Given the description of an element on the screen output the (x, y) to click on. 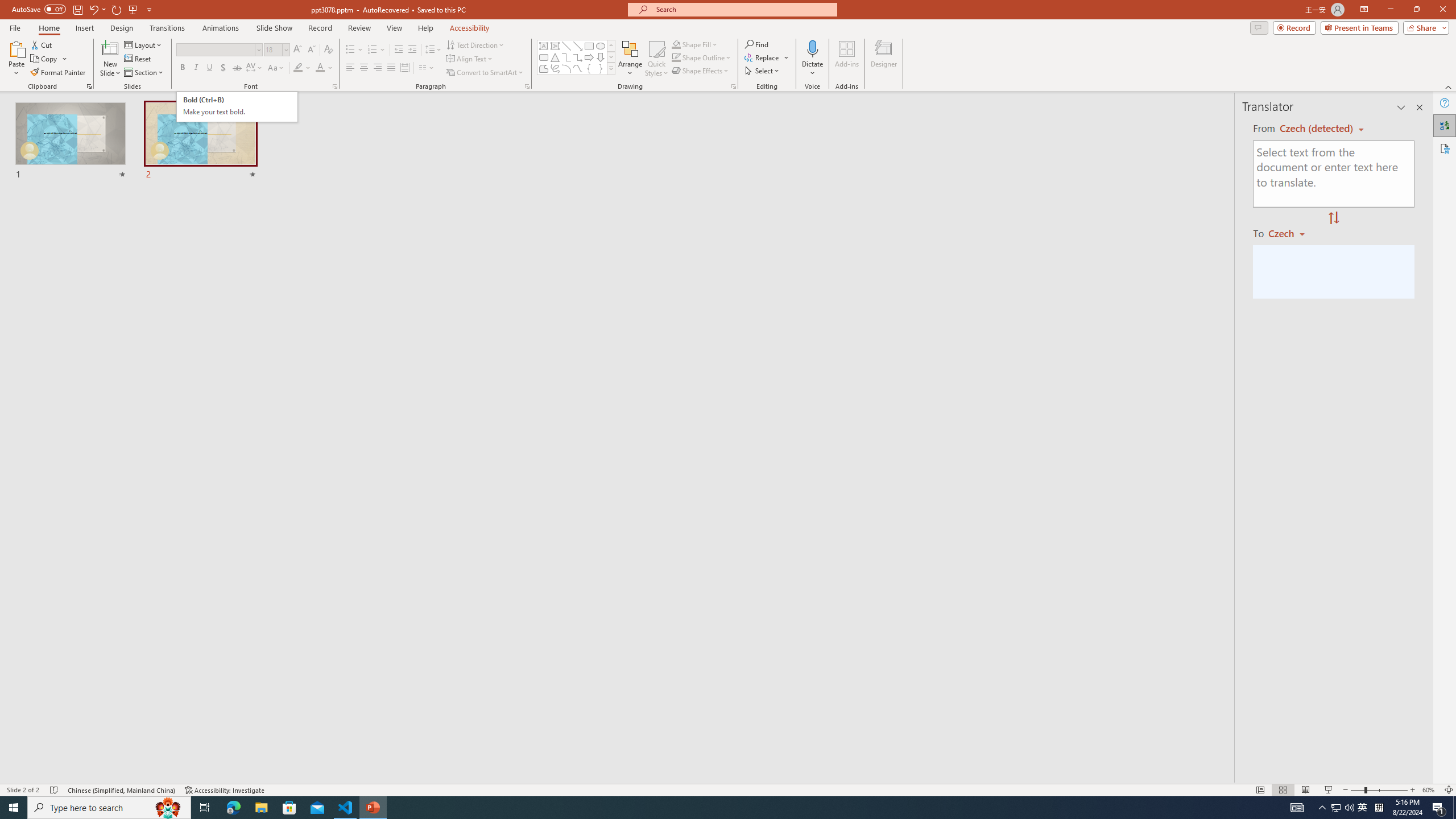
Curve (577, 68)
Freeform: Scribble (554, 68)
Czech (detected) (1317, 128)
Increase Font Size (297, 49)
Right Brace (600, 68)
Vertical Text Box (554, 45)
